Given the description of an element on the screen output the (x, y) to click on. 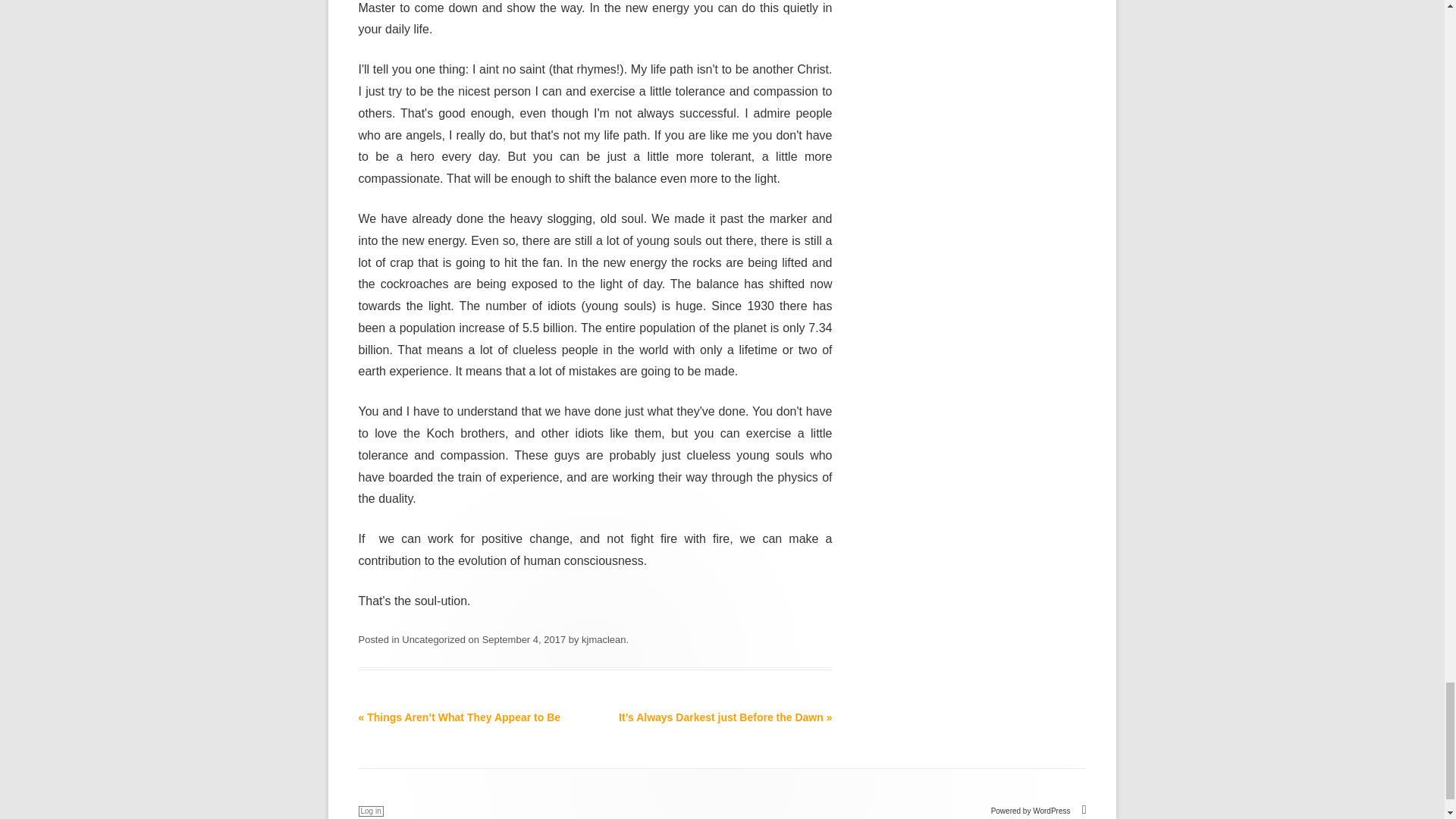
Uncategorized (433, 639)
Semantic Personal Publishing Platform (1038, 810)
View all posts by kjmaclean (603, 639)
4:56 pm (523, 639)
kjmaclean (603, 639)
September 4, 2017 (523, 639)
